Given the description of an element on the screen output the (x, y) to click on. 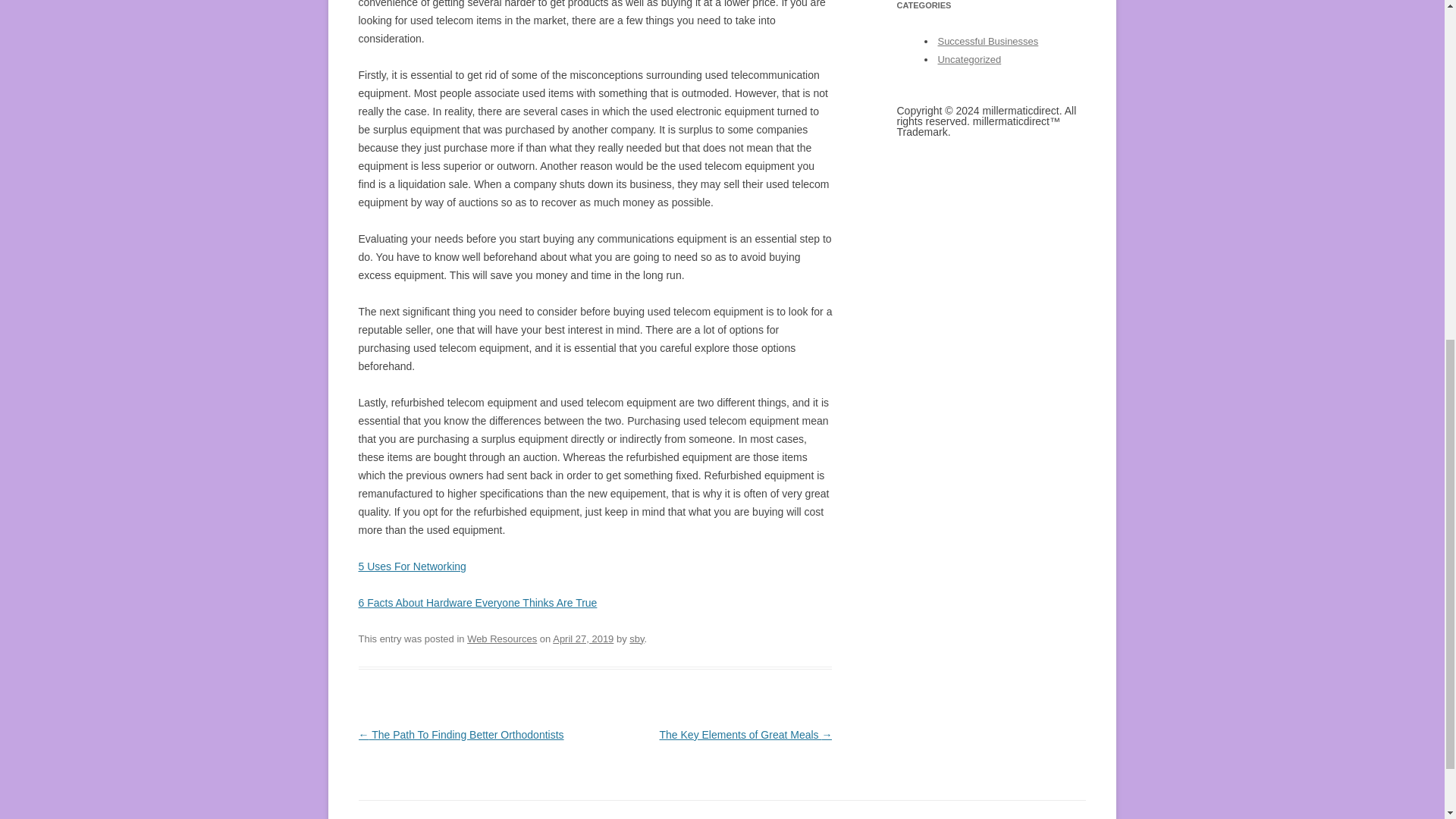
April 27, 2019 (582, 638)
6:23 pm (582, 638)
View all posts by sby (635, 638)
Successful Businesses (987, 41)
6 Facts About Hardware Everyone Thinks Are True (477, 603)
View all posts filed under Successful Businesses (987, 41)
sby (635, 638)
View all posts filed under Uncategorized (969, 59)
Uncategorized (969, 59)
5 Uses For Networking (411, 566)
